Given the description of an element on the screen output the (x, y) to click on. 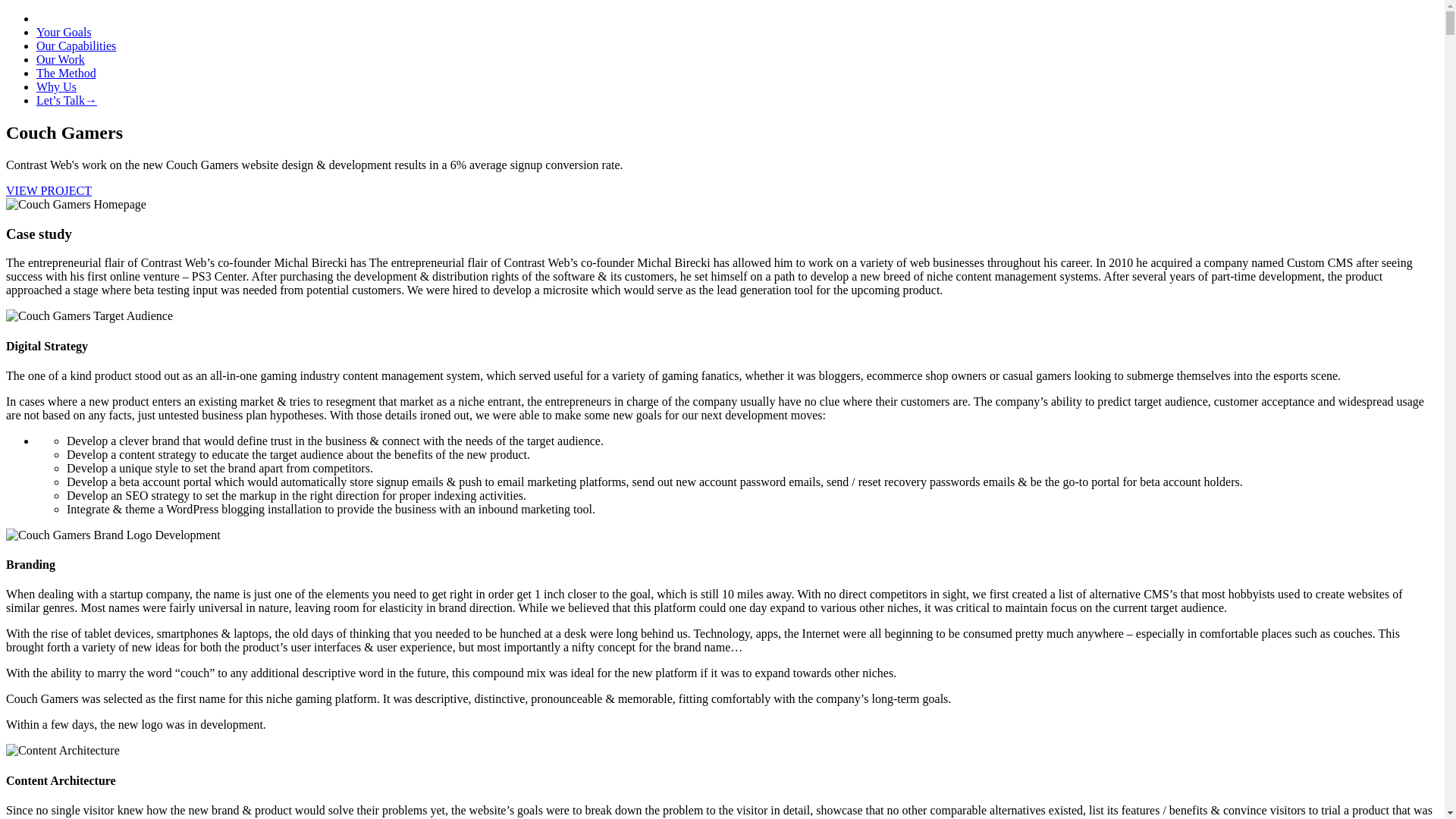
Couch Gamers Preview (48, 190)
Web Development Process (66, 72)
Our Capabilities (76, 45)
The Method (66, 72)
VIEW PROJECT (48, 190)
Contrast Web's Portfolio (60, 59)
Web Development Service (76, 45)
Our Work (60, 59)
Why Us (56, 86)
Your Goals (63, 31)
Why Contrast Web? (56, 86)
Web Strategy Goals (63, 31)
